Given the description of an element on the screen output the (x, y) to click on. 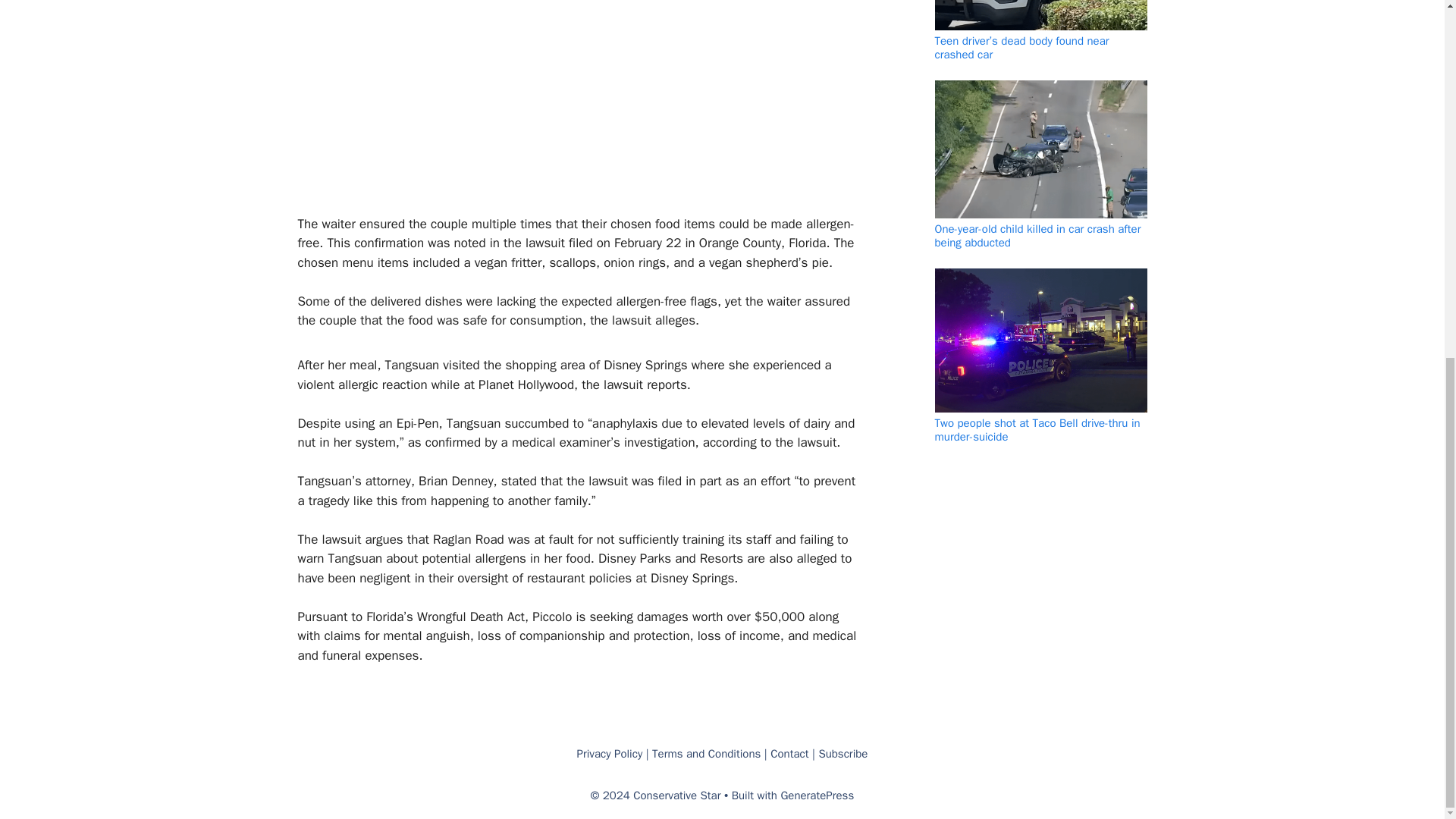
Two people shot at Taco Bell drive-thru in murder-suicide (1037, 429)
GeneratePress (816, 795)
Advertisement (570, 104)
Subscribe (842, 753)
Contact (789, 753)
One-year-old child killed in car crash after being abducted (1037, 235)
Terms and Conditions (706, 753)
Privacy Policy (609, 753)
